Given the description of an element on the screen output the (x, y) to click on. 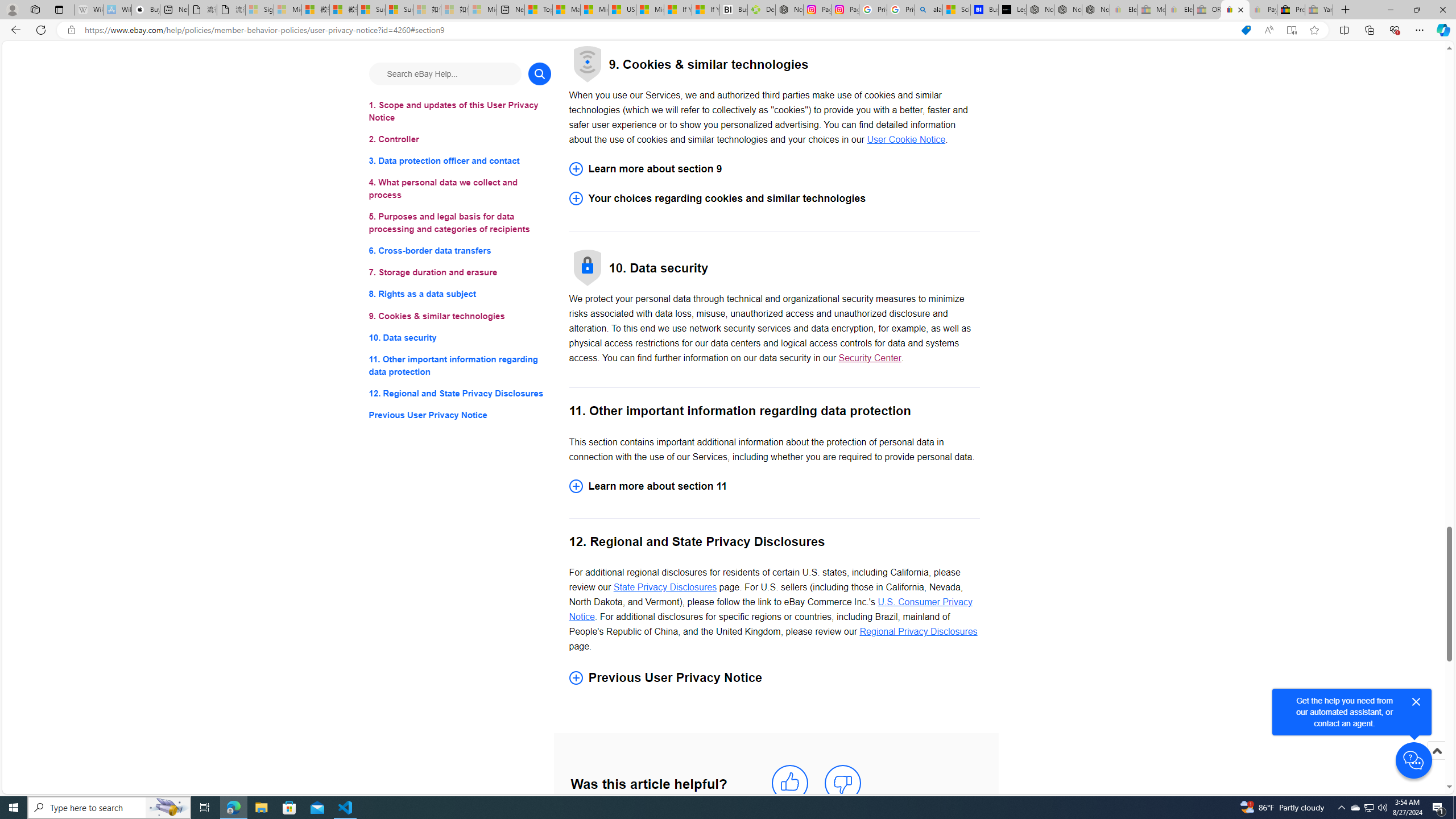
mark this article not helpful (842, 782)
Search eBay Help... (444, 73)
2. Controller (459, 138)
11. Other important information regarding data protection (459, 365)
Learn more about section 9 (774, 169)
11. Other important information regarding data protection (459, 365)
7. Storage duration and erasure (459, 272)
